Given the description of an element on the screen output the (x, y) to click on. 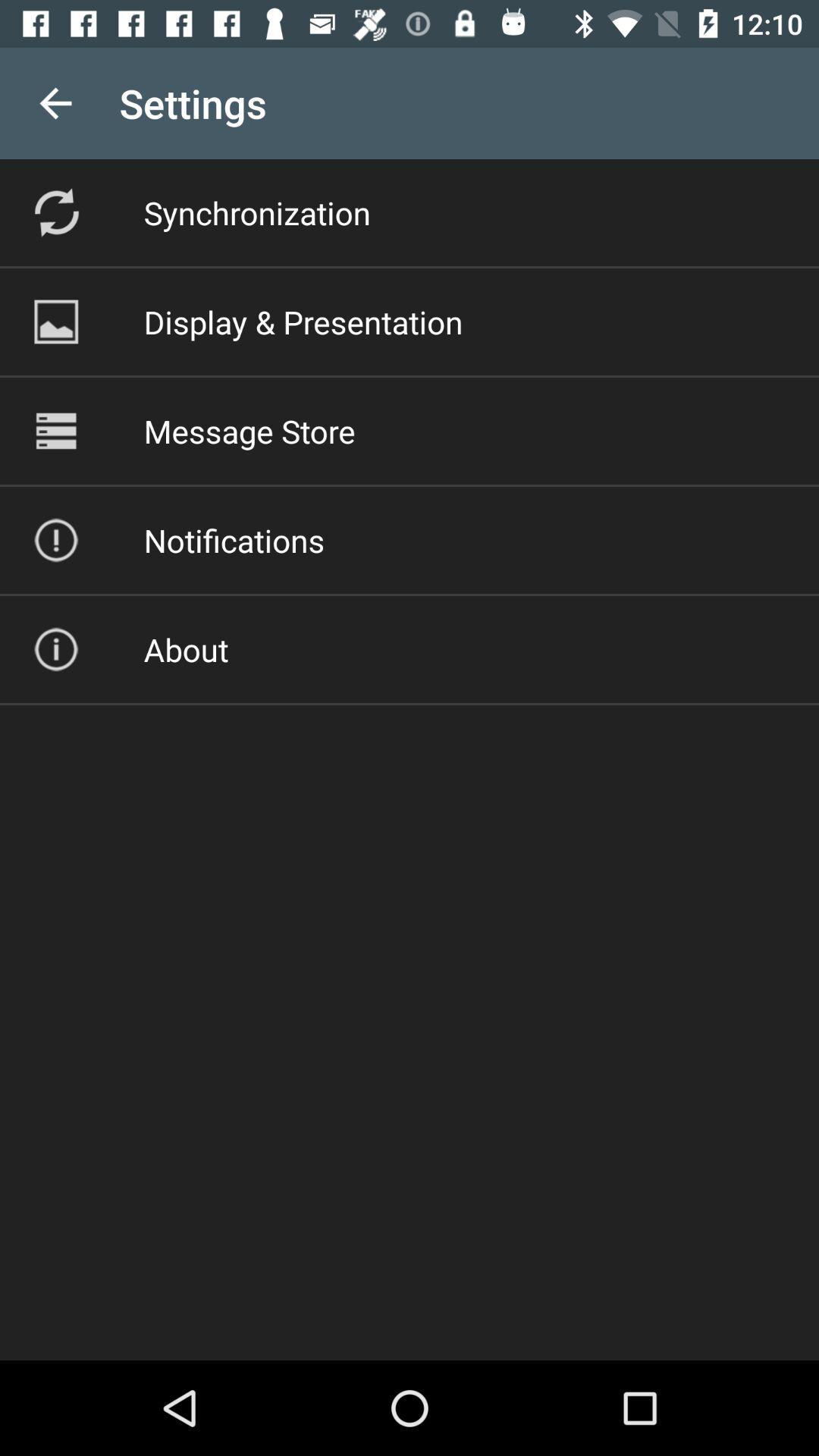
turn on display & presentation (302, 321)
